Given the description of an element on the screen output the (x, y) to click on. 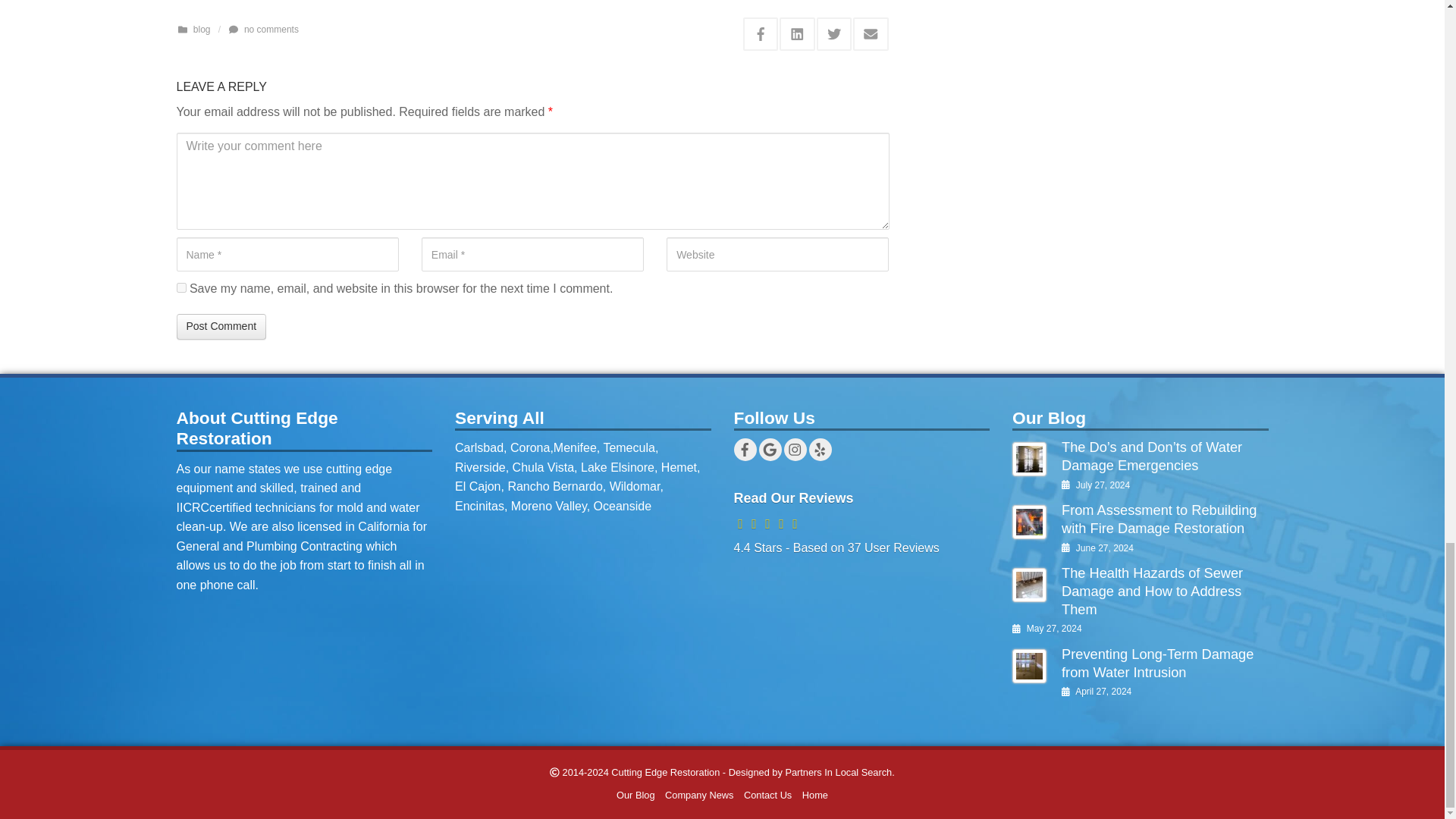
Carlsbad (478, 447)
Facebook (745, 449)
Share this via Twitter (833, 33)
yes (181, 287)
no comments (271, 29)
Share this via Linkedin (796, 33)
Corona (530, 447)
blog (202, 29)
Post Comment (221, 326)
Share this via Email (870, 33)
